Given the description of an element on the screen output the (x, y) to click on. 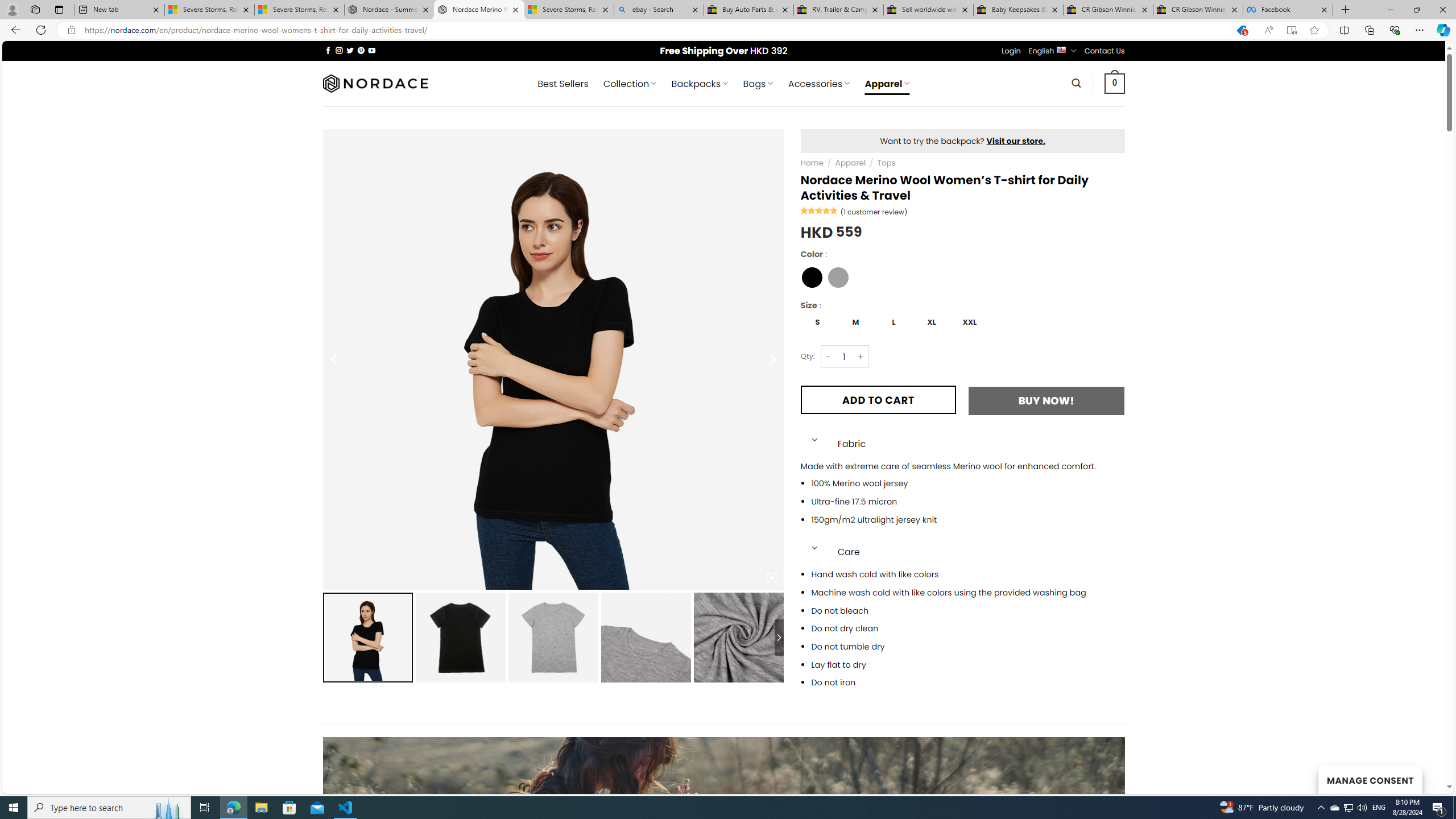
MANAGE CONSENT (1369, 779)
